Given the description of an element on the screen output the (x, y) to click on. 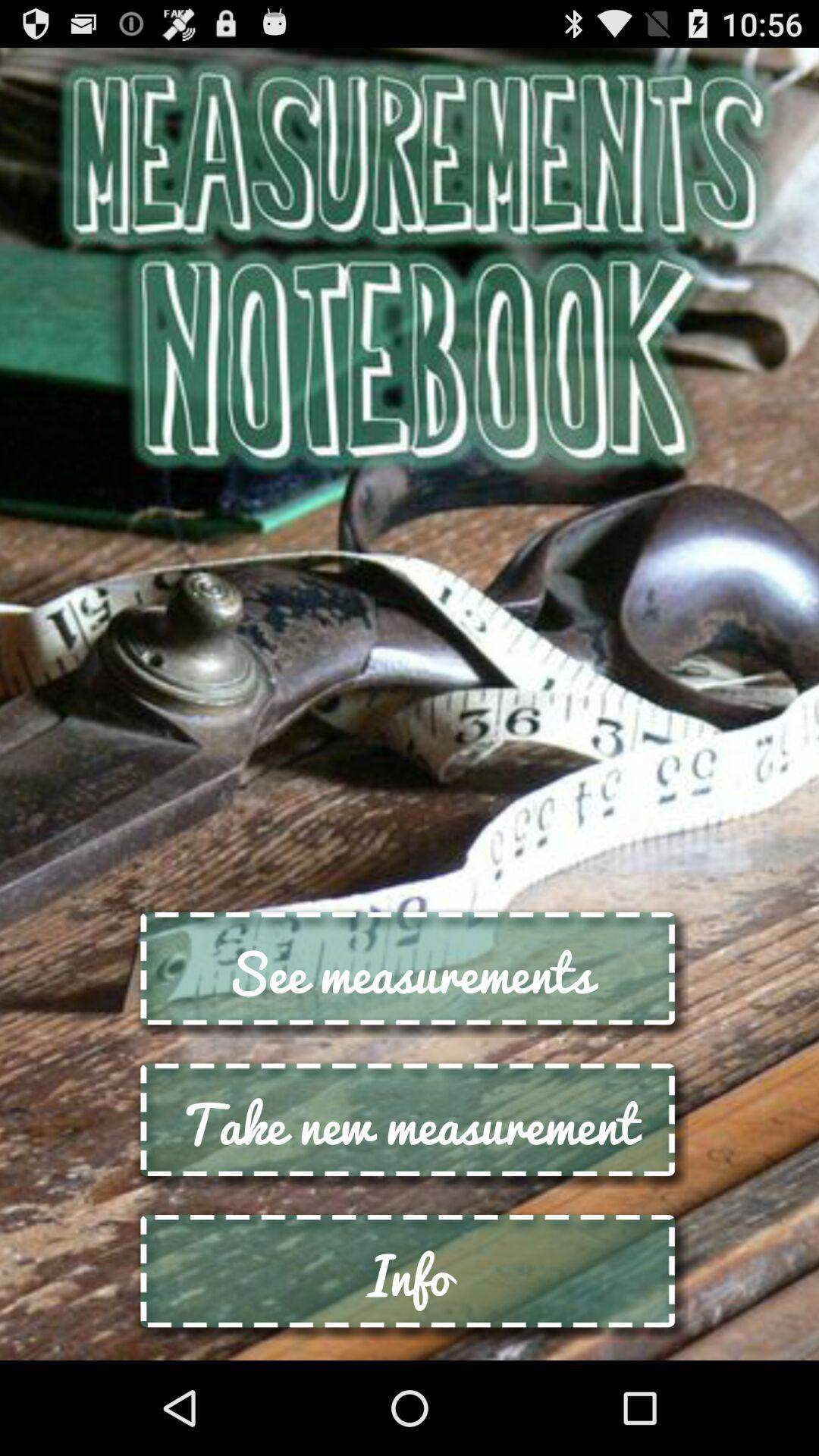
jump to info button (409, 1274)
